Given the description of an element on the screen output the (x, y) to click on. 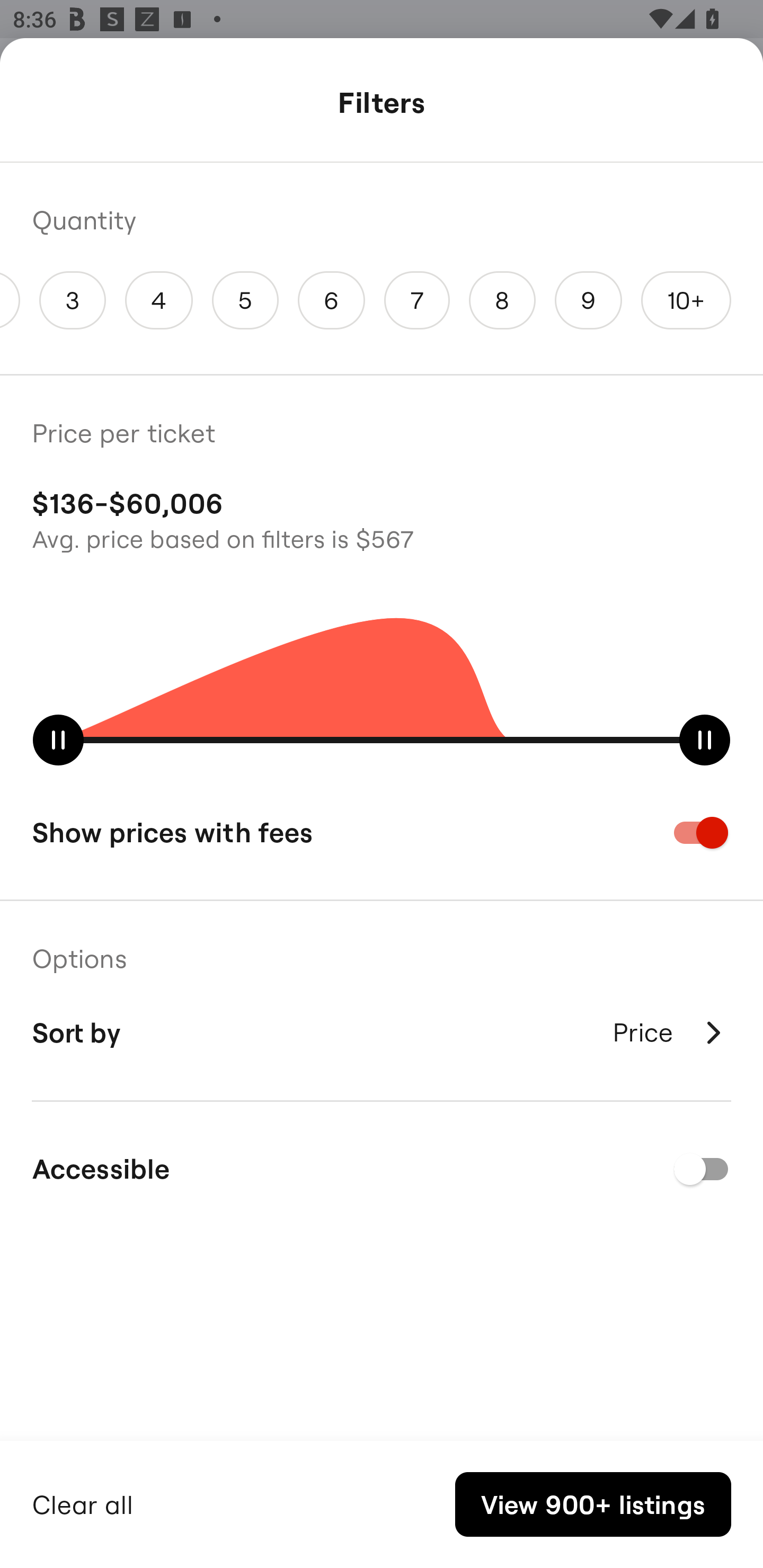
Back Magic at Knicks Fri, Mar 8, 7:30 PM Info (381, 104)
3 (72, 300)
4 (158, 300)
5 (245, 300)
6 (331, 300)
7 (417, 300)
8 (501, 300)
9 (588, 300)
10+ (685, 300)
$136-$60,006 Avg. price based on filters is $567 (381, 518)
Show prices with fees (381, 832)
Sort by Price (381, 1032)
Accessible (381, 1168)
Clear all (83, 1502)
View 900+ listings (592, 1504)
